Given the description of an element on the screen output the (x, y) to click on. 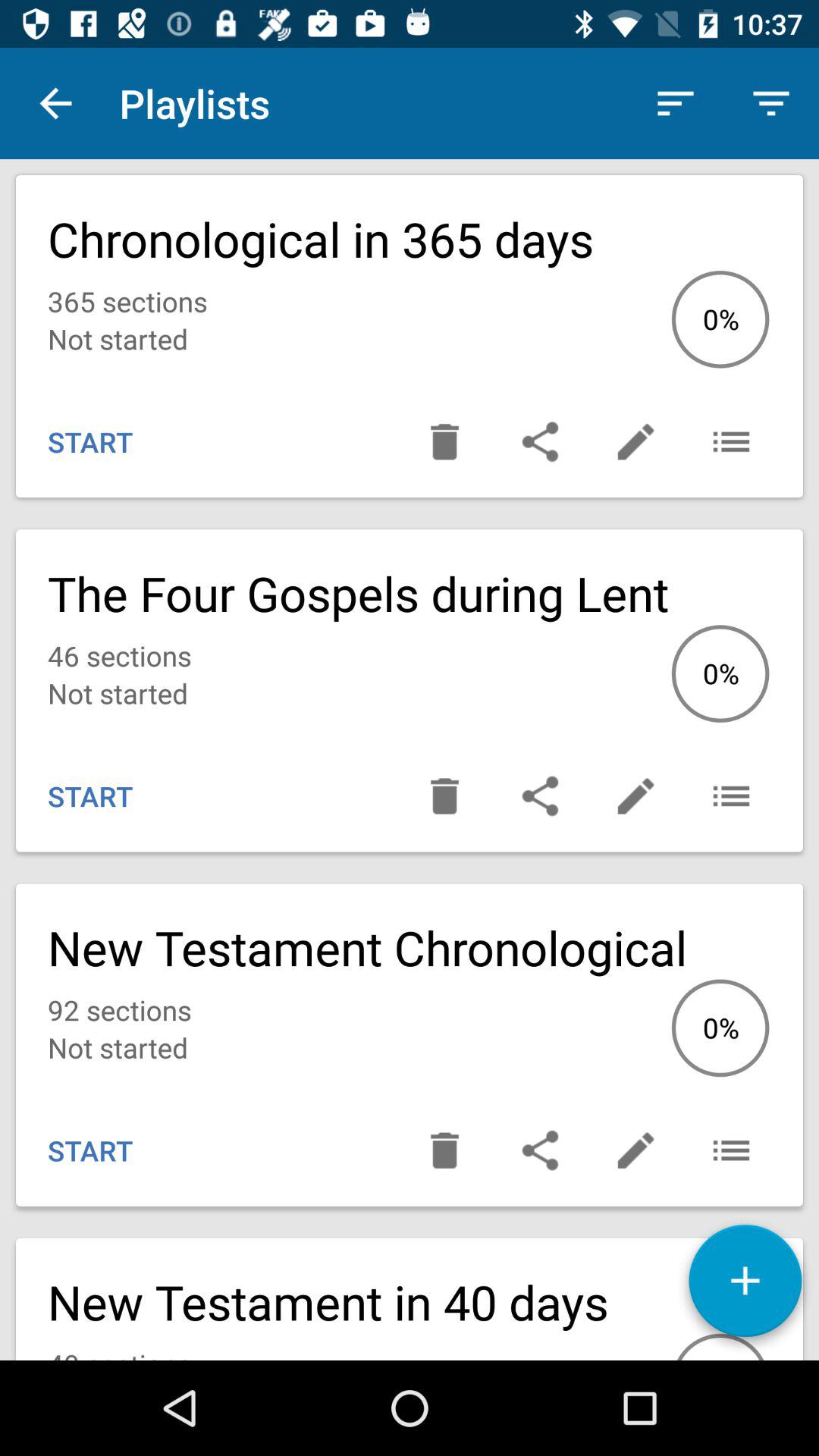
choose item above the chronological in 365 (771, 103)
